Given the description of an element on the screen output the (x, y) to click on. 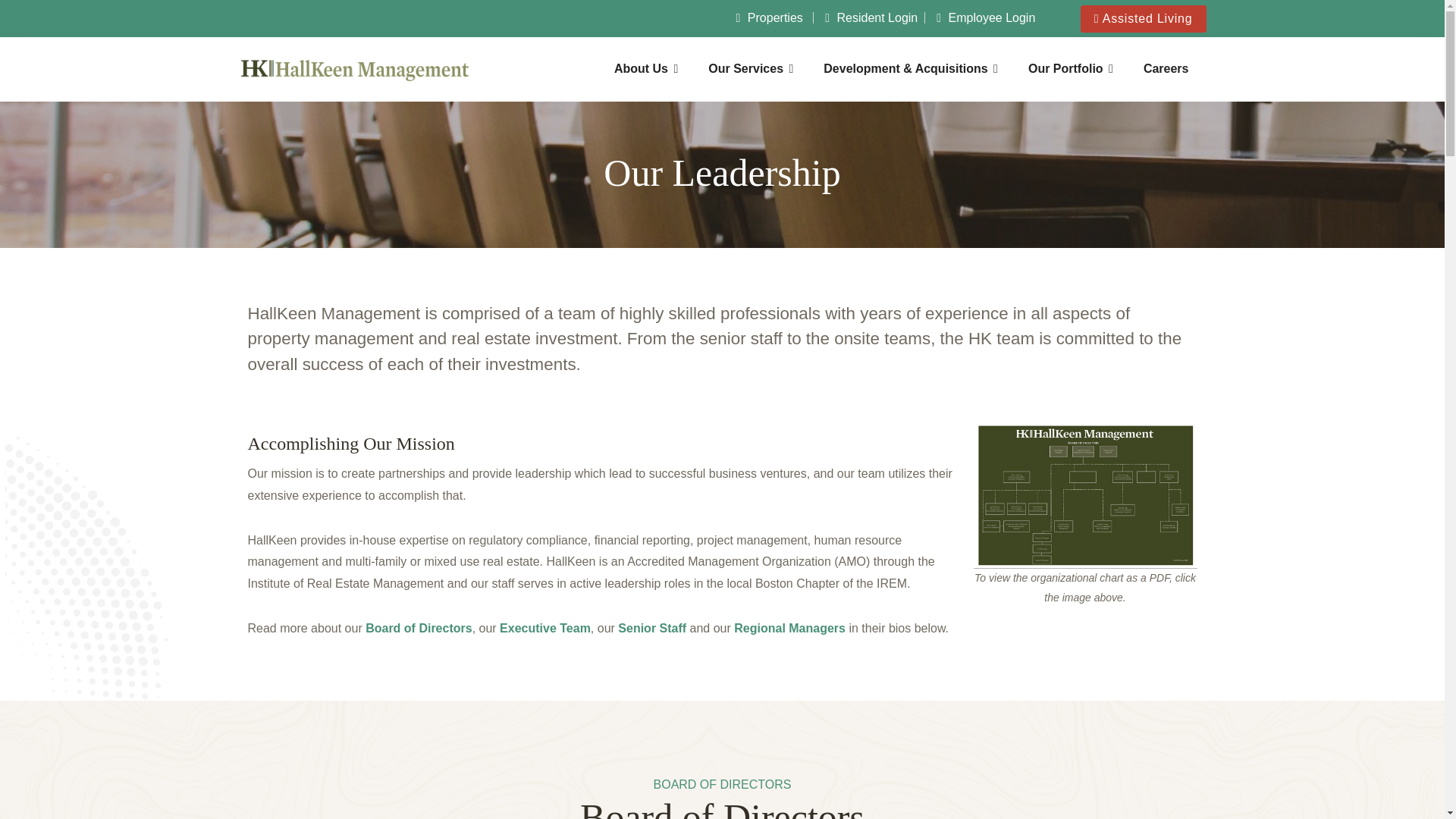
About Us (645, 69)
Board of Directors (418, 627)
Regional Managers (789, 627)
Our Portfolio (1070, 69)
Careers (1166, 69)
Our Services (750, 69)
Senior Staff (651, 627)
Employee Login (985, 17)
Assisted Living (1143, 18)
Properties (769, 17)
